Given the description of an element on the screen output the (x, y) to click on. 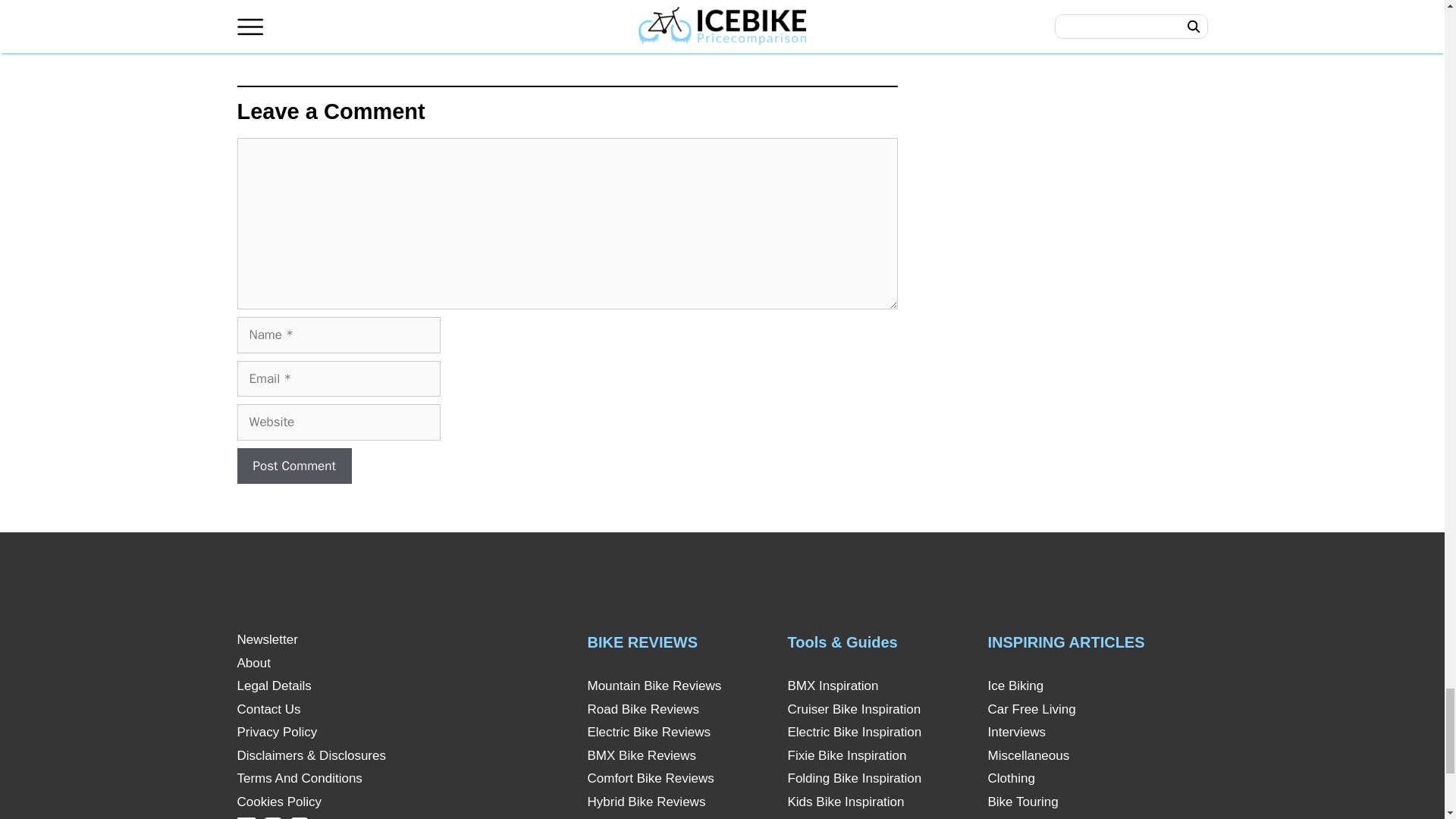
Post Comment (292, 465)
